Given the description of an element on the screen output the (x, y) to click on. 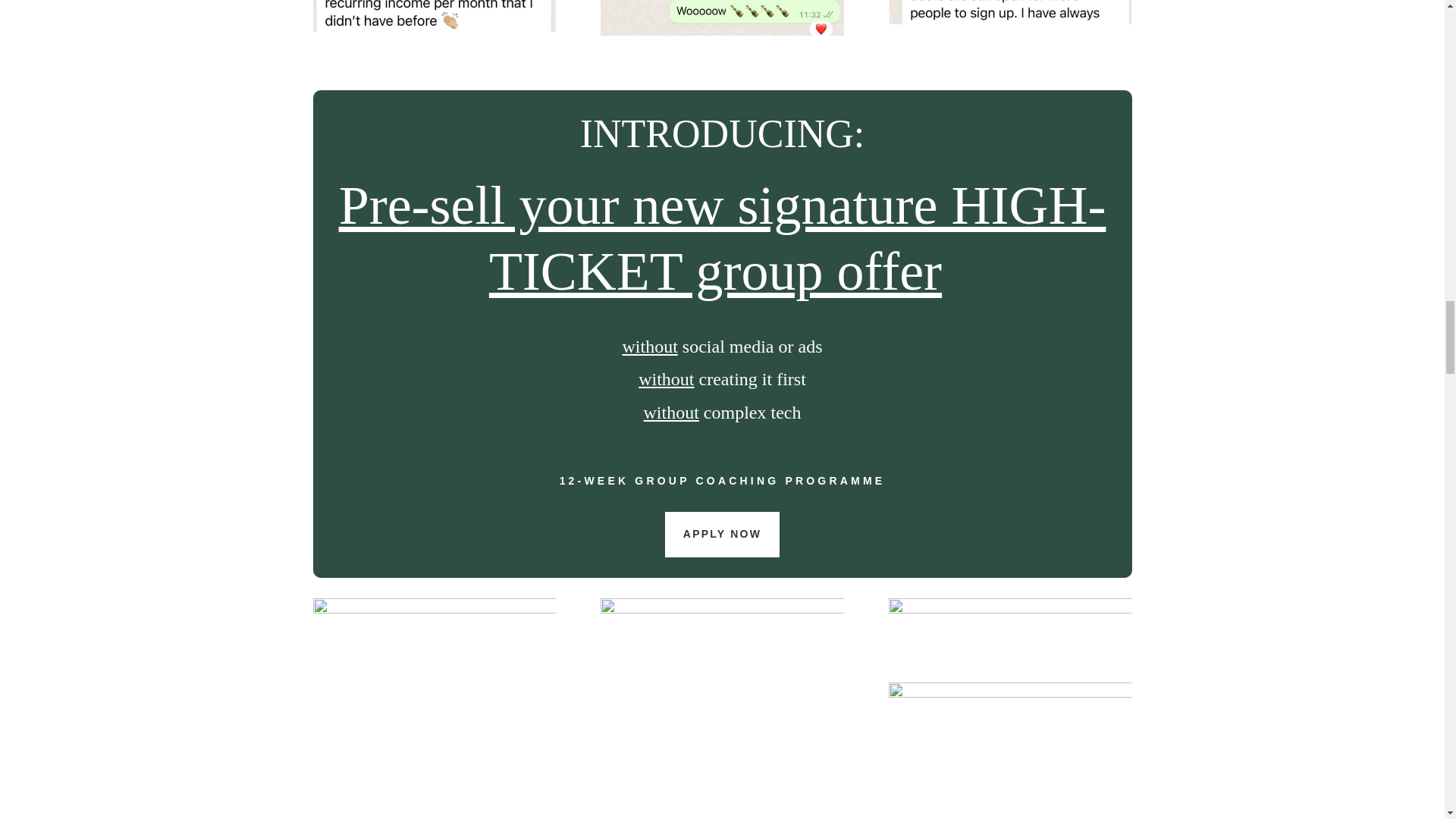
4 (433, 15)
APPLY NOW (721, 534)
1 (1009, 12)
2 (721, 18)
